Given the description of an element on the screen output the (x, y) to click on. 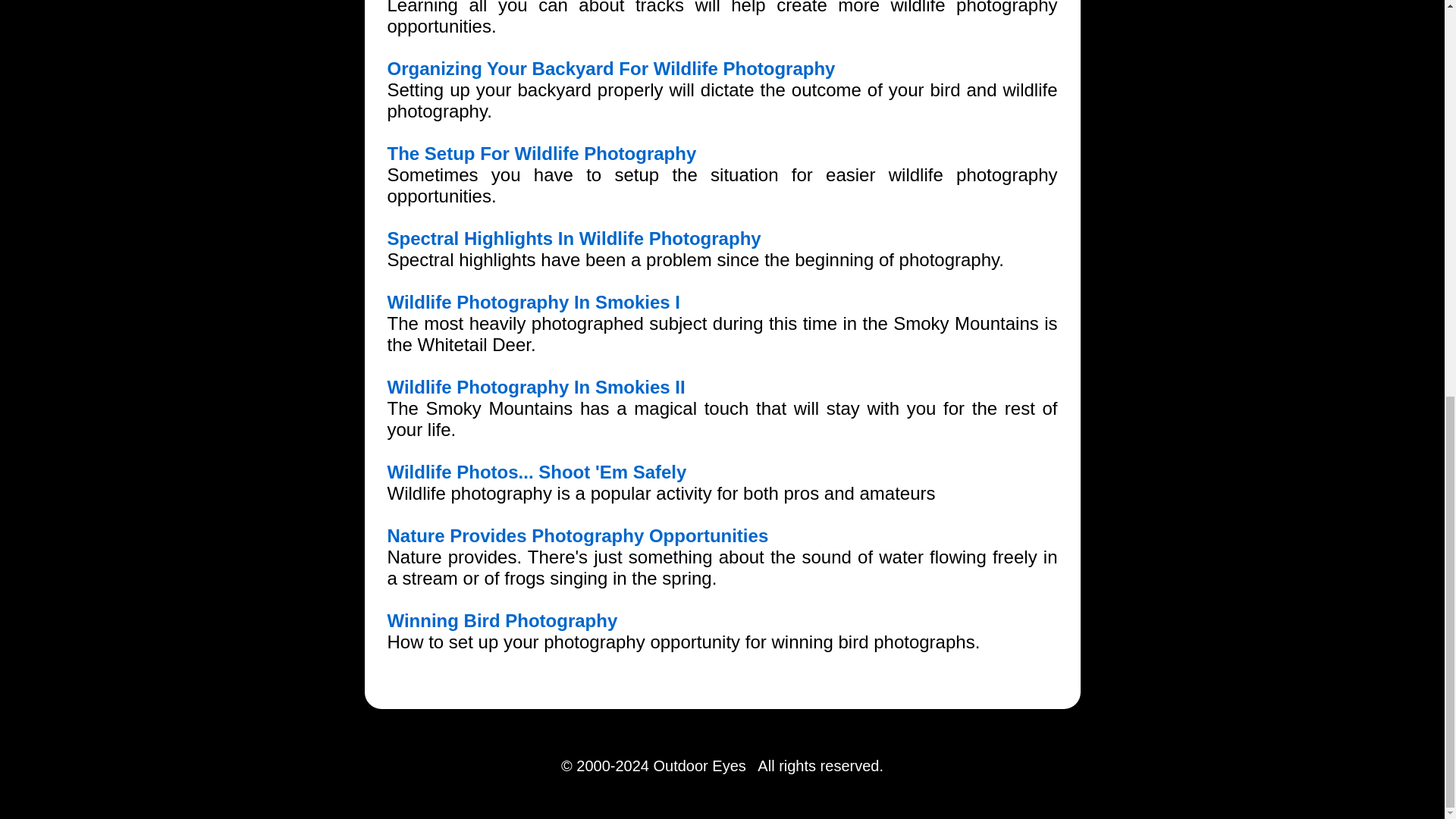
Wildlife Photos... Shoot 'Em Safely (536, 471)
Organizing Your Backyard For Wildlife Photography (610, 68)
Wildlife Photography In Smokies II (535, 386)
Nature Provides Photography Opportunities (577, 535)
Wildlife Photography In Smokies I (533, 301)
The Setup For Wildlife Photography (541, 153)
Winning Bird Photography (502, 620)
Spectral Highlights In Wildlife Photography (573, 238)
